Given the description of an element on the screen output the (x, y) to click on. 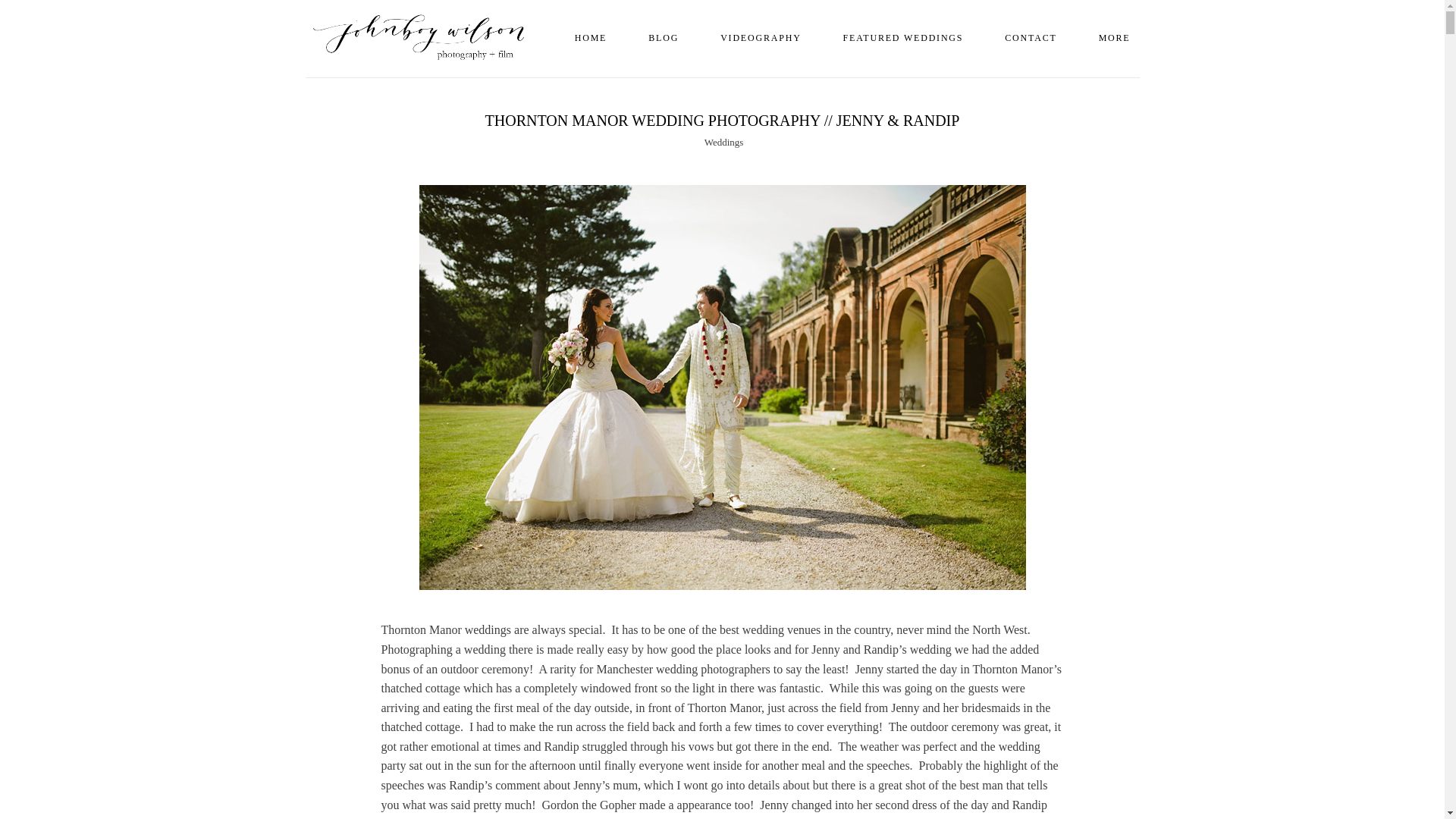
FEATURED WEDDINGS (903, 38)
HOME (590, 38)
BLOG (662, 38)
MORE (1114, 38)
CONTACT (1030, 38)
Weddings (724, 142)
VIDEOGRAPHY (760, 38)
